Given the description of an element on the screen output the (x, y) to click on. 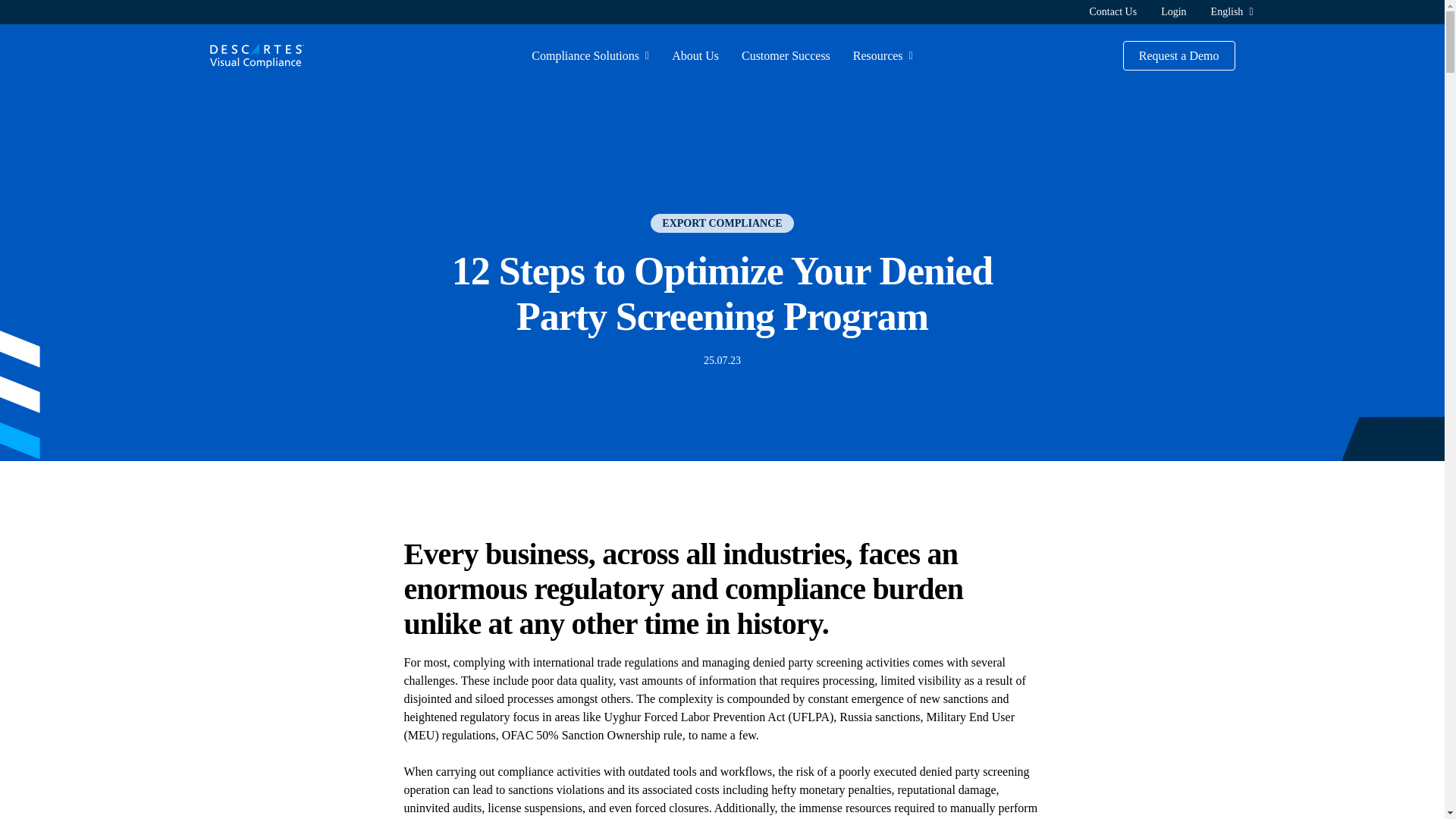
Login (1173, 11)
English (1227, 11)
English (1227, 11)
Contact Us (1113, 11)
Compliance Solutions (585, 55)
